Given the description of an element on the screen output the (x, y) to click on. 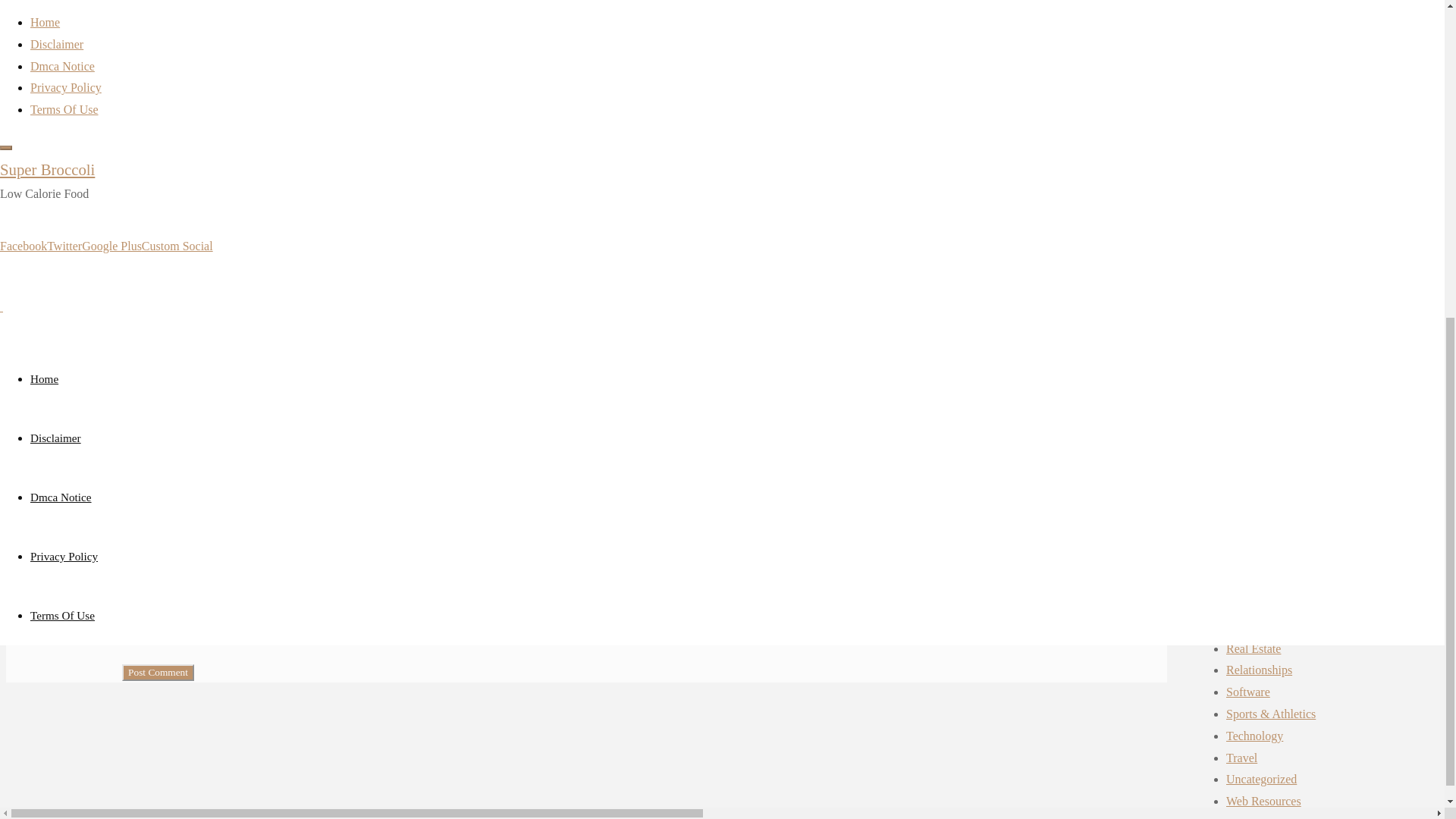
Wink Frozen Dessert (173, 204)
yes (130, 636)
Post Comment (157, 672)
Lessons Learned from Years with (203, 226)
Terms Of Use (62, 84)
Post Comment (157, 672)
Privacy Policy (63, 25)
